Given the description of an element on the screen output the (x, y) to click on. 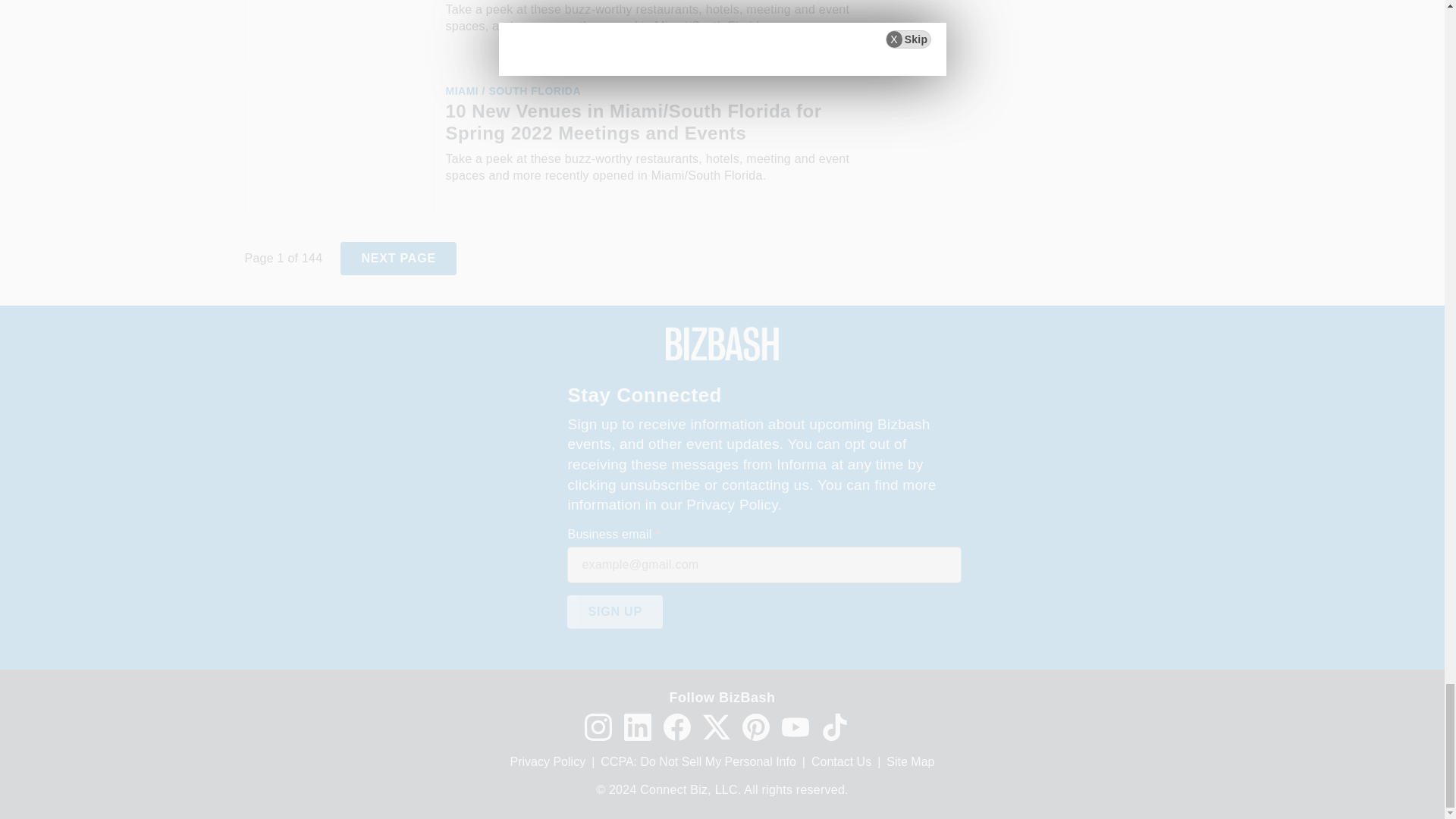
LinkedIn icon (636, 727)
Twitter X icon (715, 727)
YouTube icon (794, 727)
Facebook icon (676, 727)
Instagram icon (597, 727)
Pinterest icon (754, 727)
TikTok (834, 727)
